Given the description of an element on the screen output the (x, y) to click on. 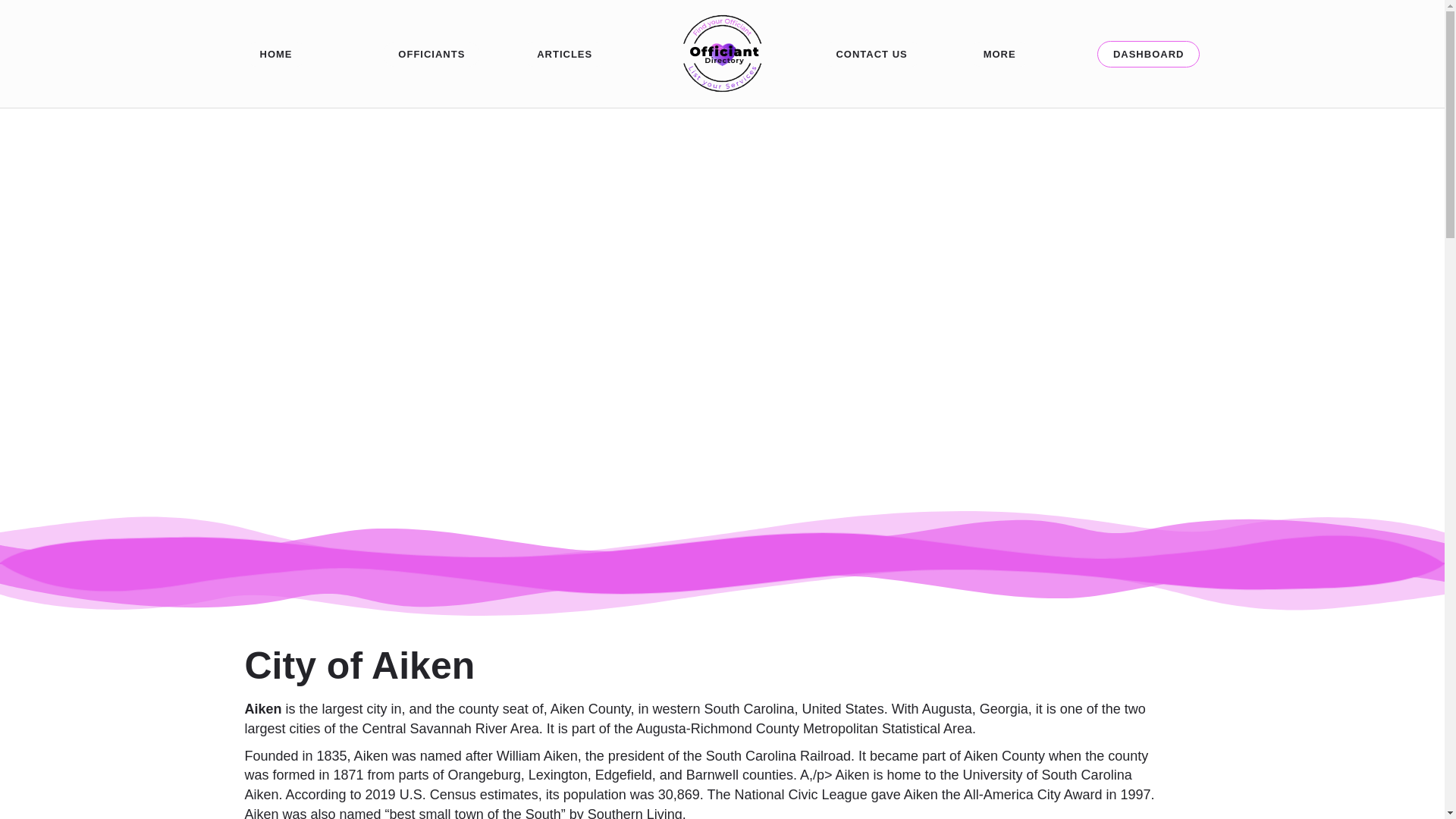
DASHBOARD (1148, 53)
CONTACT US (871, 53)
HOME (275, 53)
OFFICIANTS (431, 53)
ARTICLES (564, 53)
SOUTH CAROLINA (721, 373)
MORE (999, 53)
